Given the description of an element on the screen output the (x, y) to click on. 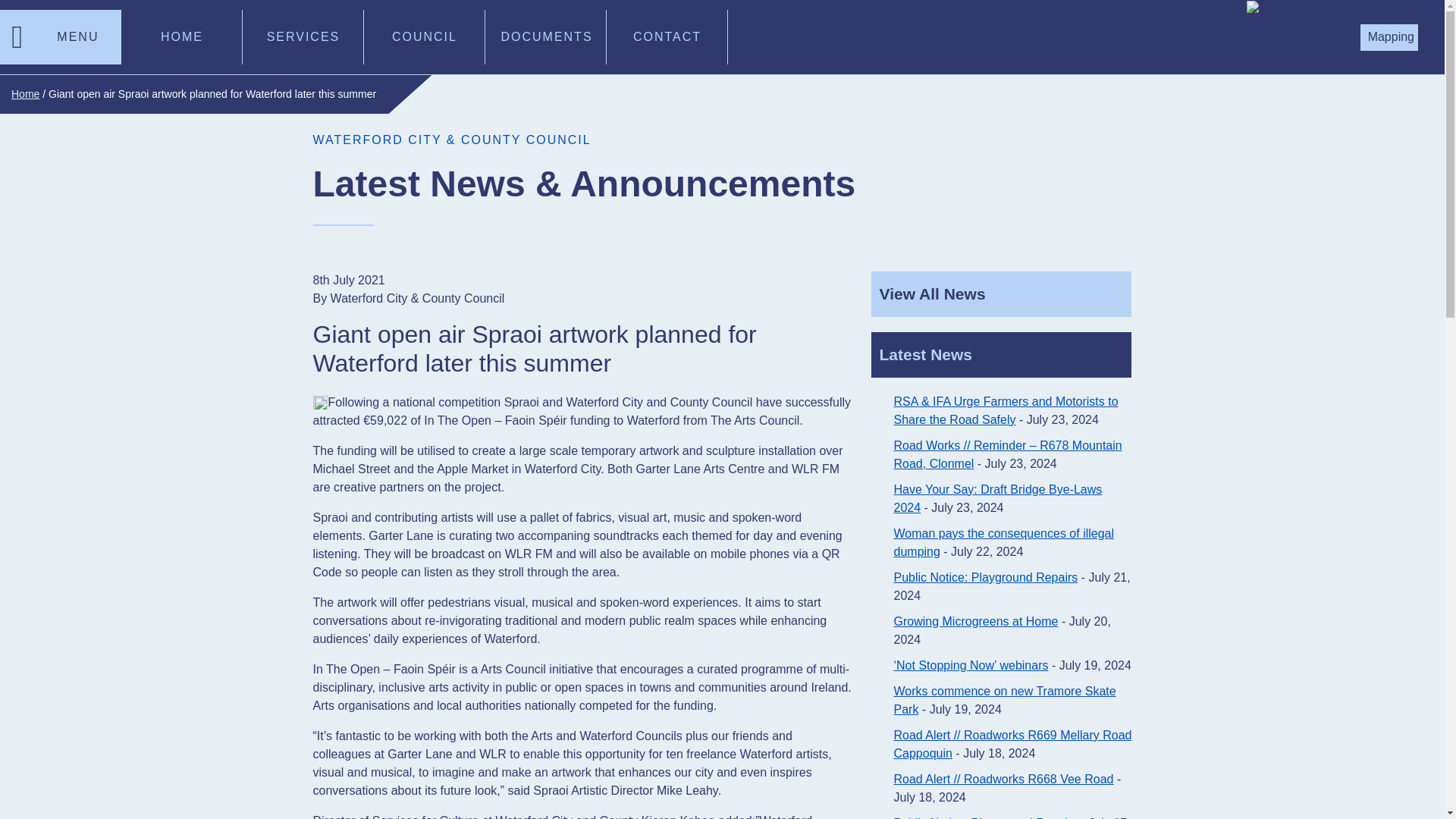
View All News (1000, 293)
Growing Microgreens at Home (975, 621)
HOME (181, 36)
Have Your Say: Draft Bridge Bye-Laws 2024 (997, 498)
Public Notice: Playground Repairs (985, 817)
Woman pays the consequences of illegal dumping (1003, 542)
COUNCIL (424, 36)
Works commence on new Tramore Skate Park (1004, 699)
Public Notice: Playground Repairs (985, 576)
SERVICES (303, 36)
